Given the description of an element on the screen output the (x, y) to click on. 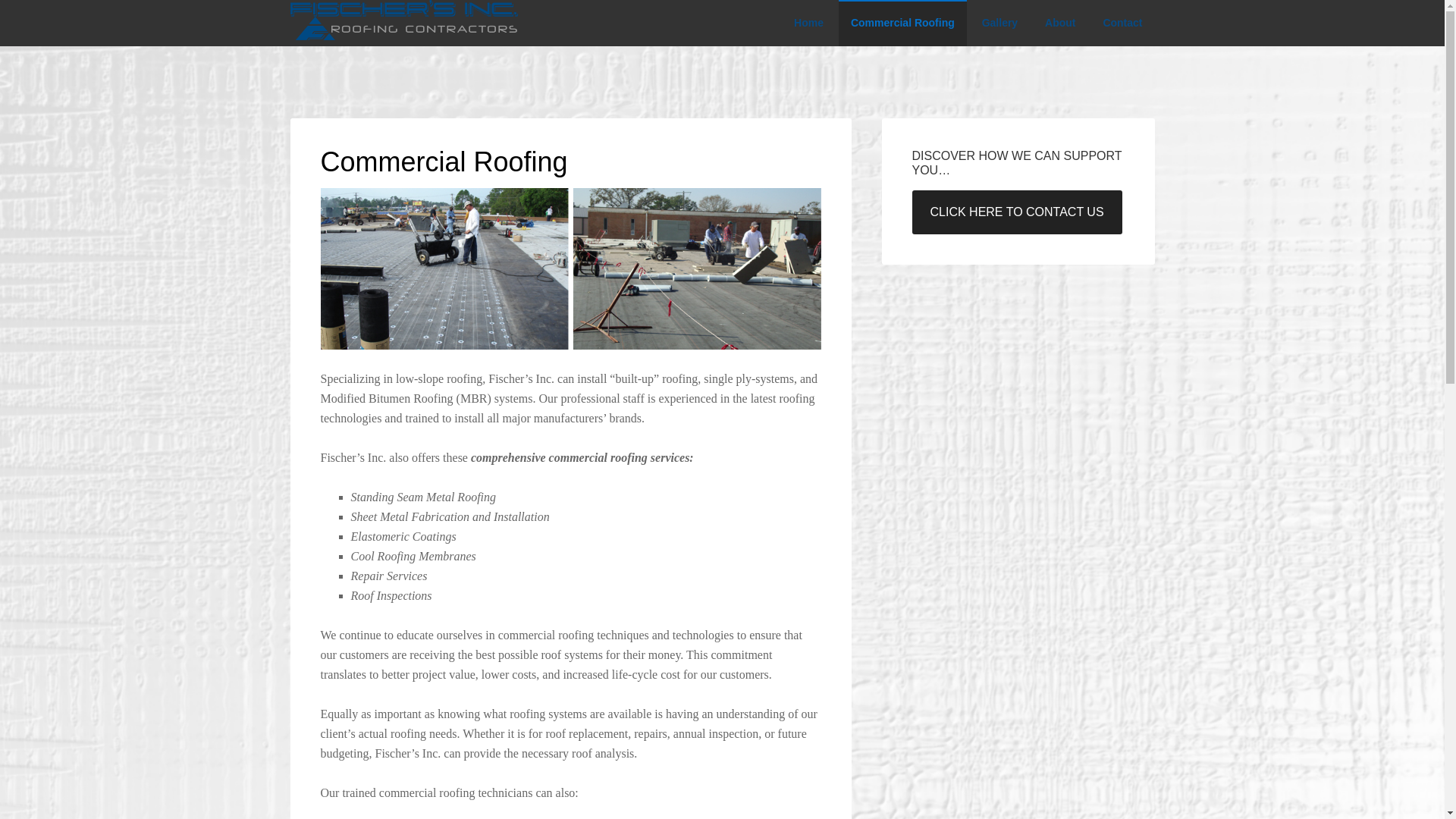
Commercial Roofing (902, 22)
About (1059, 22)
Gallery (999, 22)
Home (808, 22)
Contact (1122, 22)
CLICK HERE TO CONTACT US (1016, 212)
